Given the description of an element on the screen output the (x, y) to click on. 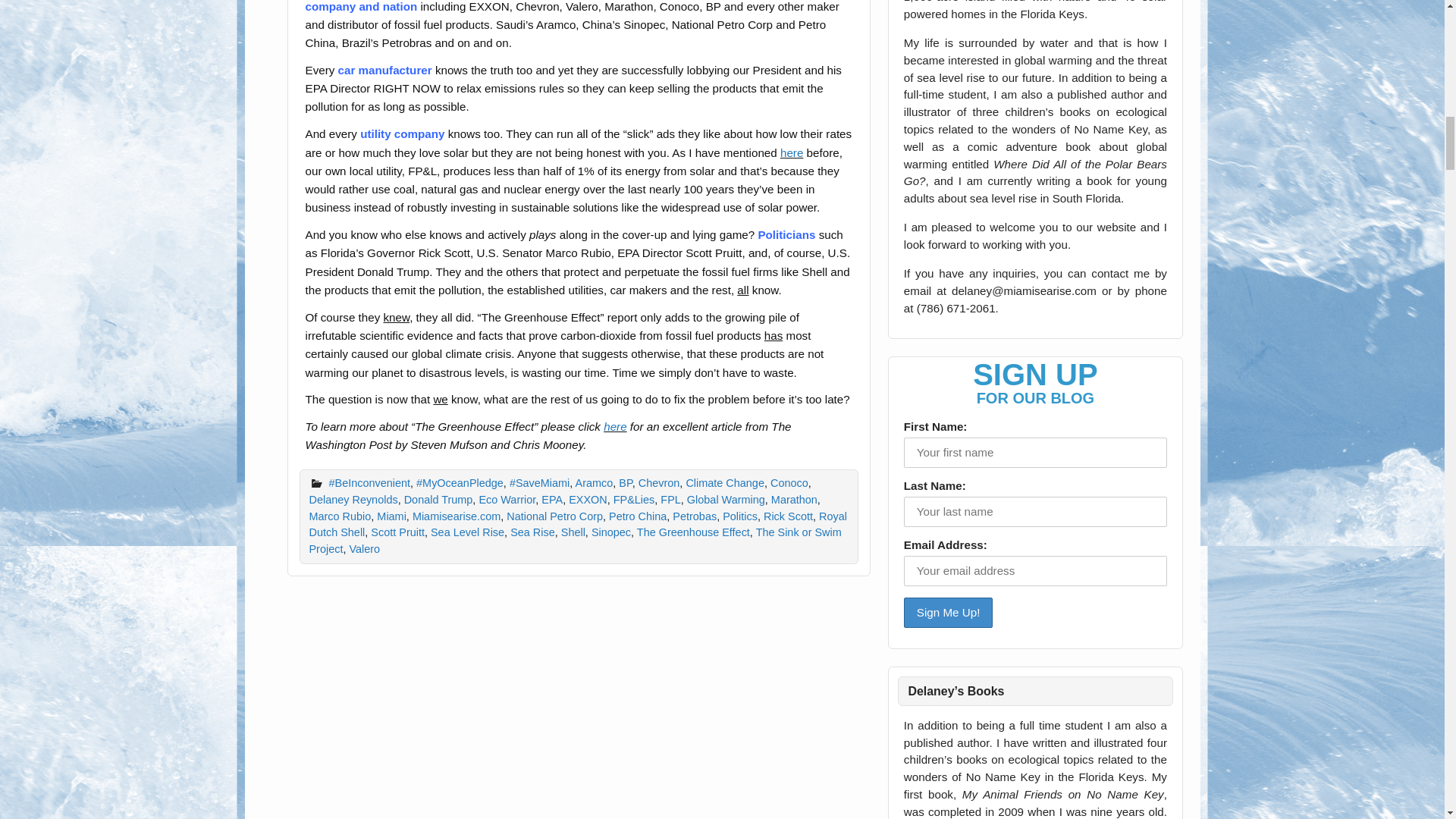
Marathon (793, 499)
Global Warming (726, 499)
Donald Trump (438, 499)
Chevron (659, 482)
EXXON (588, 499)
here (615, 426)
BP (624, 482)
FPL (670, 499)
Climate Change (724, 482)
Conoco (789, 482)
Aramco (593, 482)
here (791, 151)
Eco Warrior (507, 499)
Delaney Reynolds (352, 499)
EPA (551, 499)
